Given the description of an element on the screen output the (x, y) to click on. 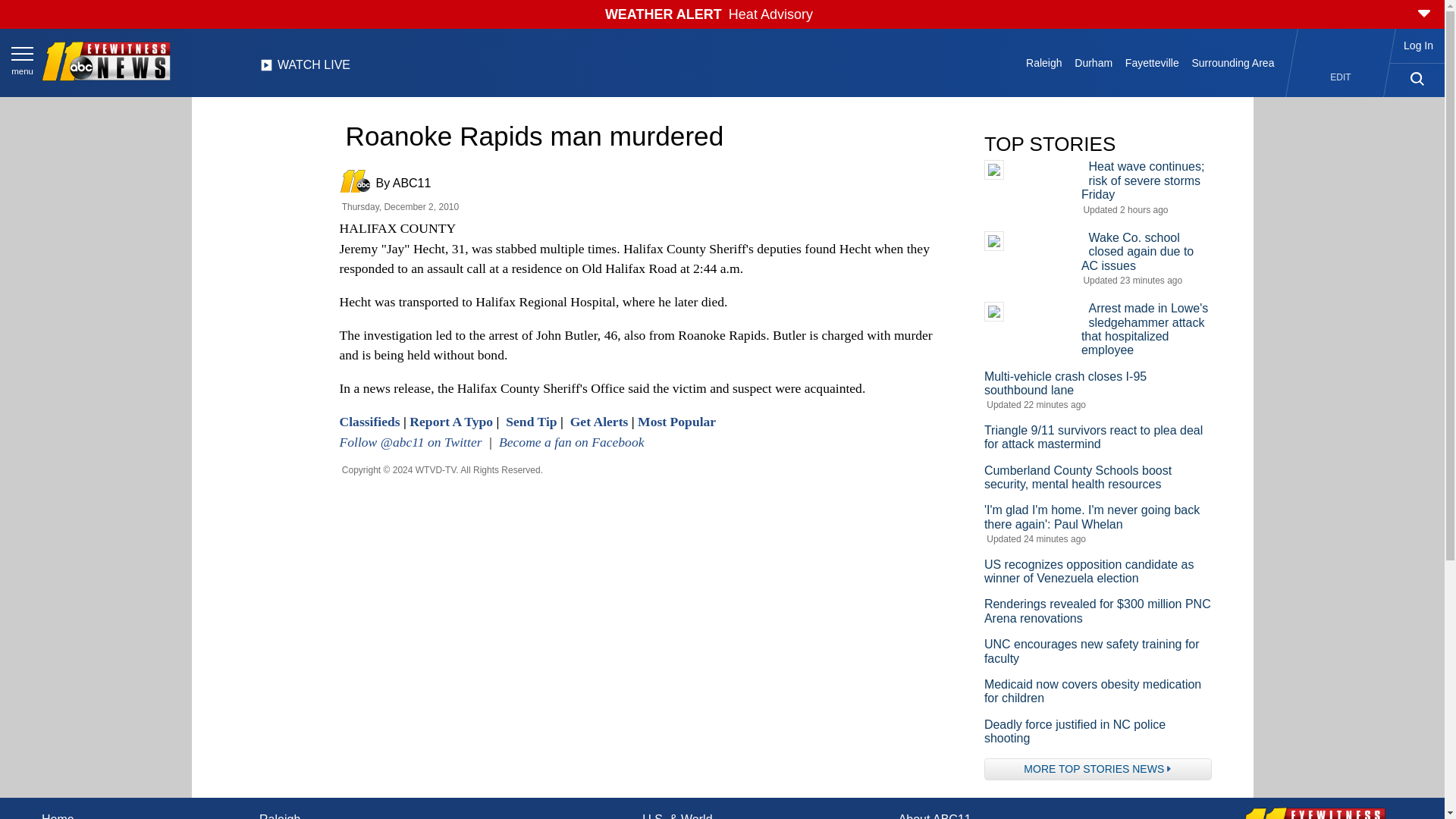
WATCH LIVE (305, 69)
EDIT (1340, 77)
Durham (1093, 62)
Fayetteville (1151, 62)
Raleigh (1044, 62)
Surrounding Area (1233, 62)
